Given the description of an element on the screen output the (x, y) to click on. 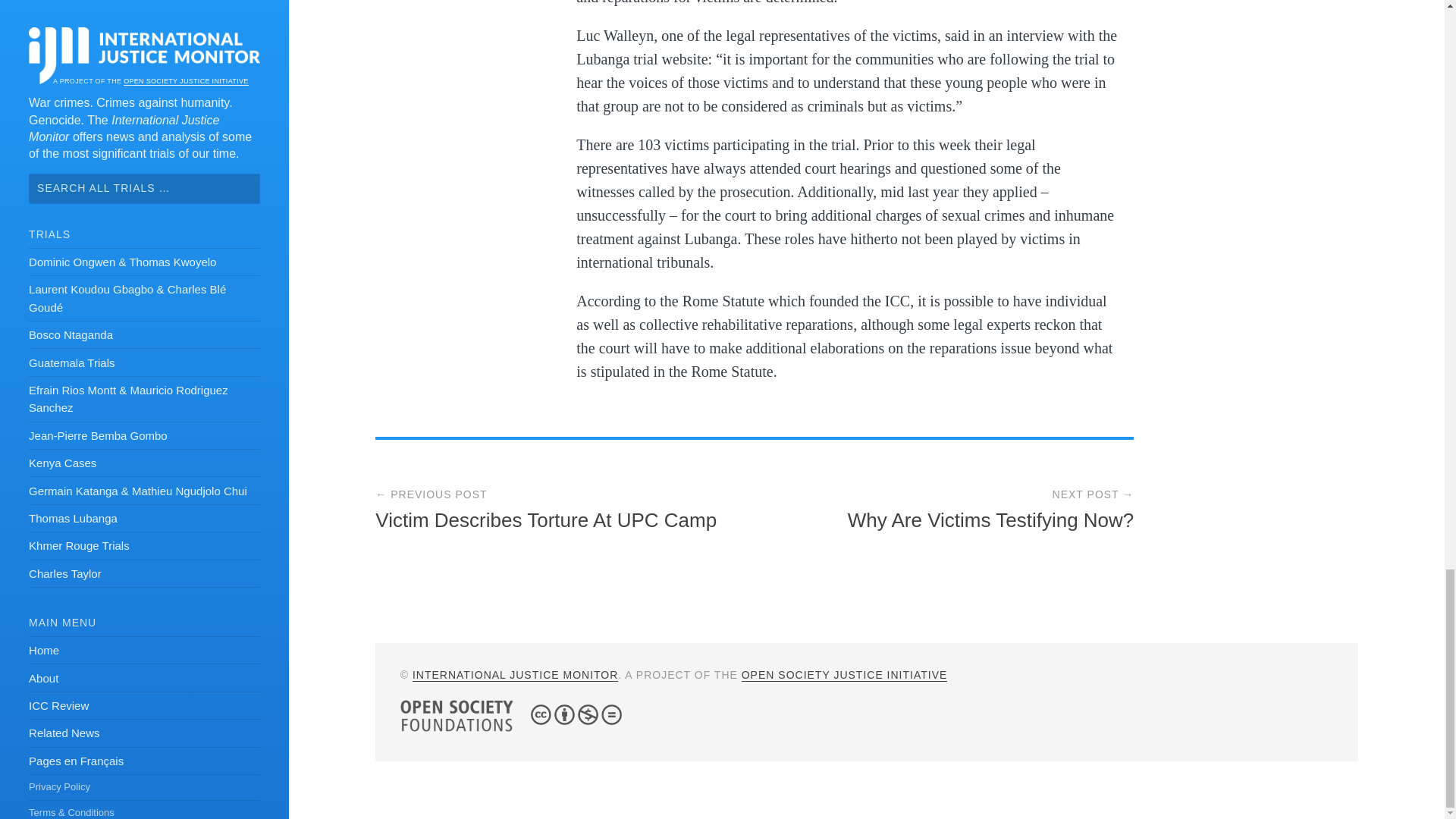
Victim Describes Torture At UPC Camp (545, 519)
Why Are Victims Testifying Now? (990, 519)
